Given the description of an element on the screen output the (x, y) to click on. 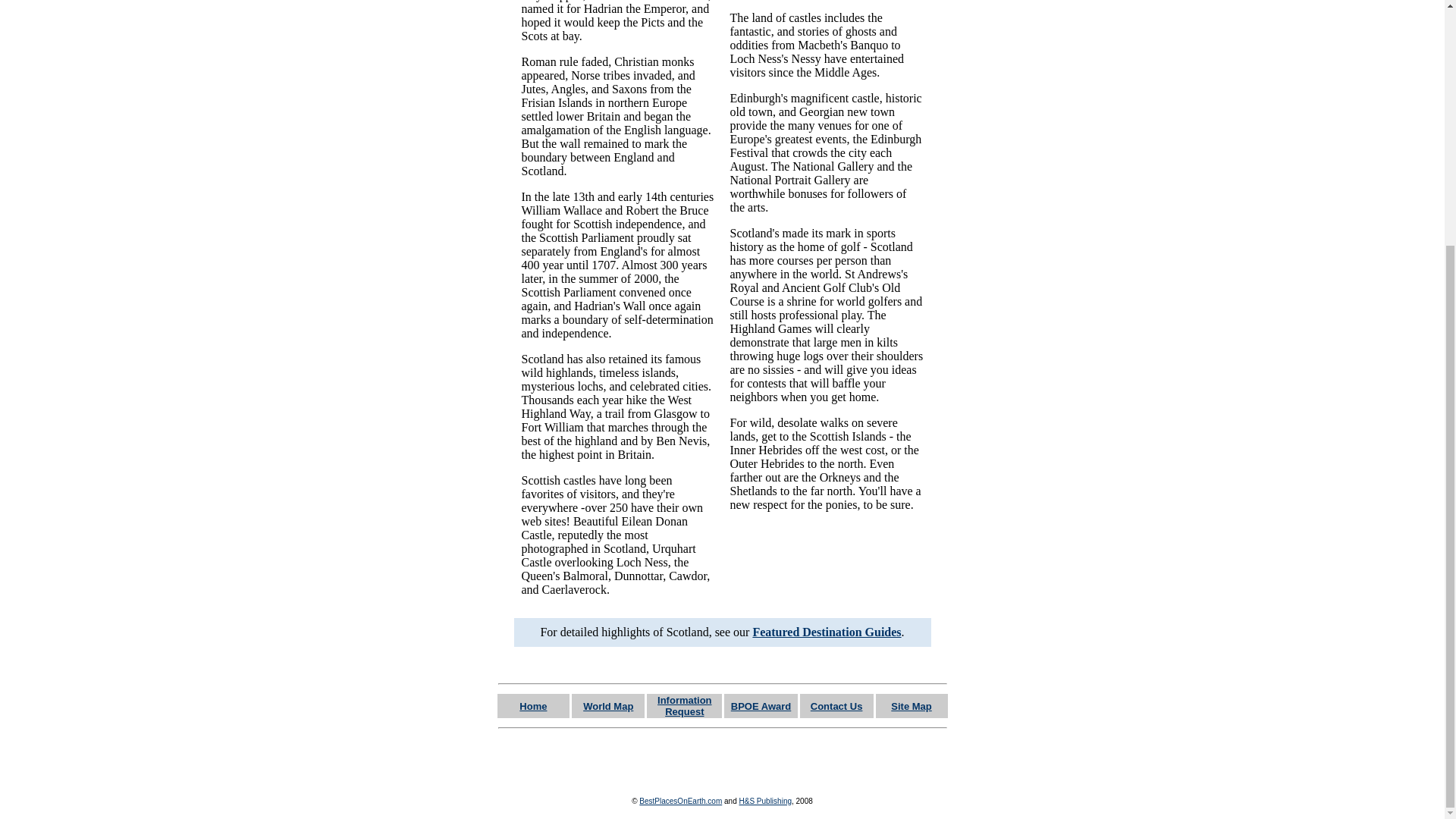
Featured Destination Guides (826, 631)
BPOE Award (760, 704)
Advertisement (721, 759)
Information Request (684, 704)
BestPlacesOnEarth.com (680, 800)
World Map (608, 704)
Home (533, 704)
Contact Us (836, 704)
Site Map (911, 704)
